Given the description of an element on the screen output the (x, y) to click on. 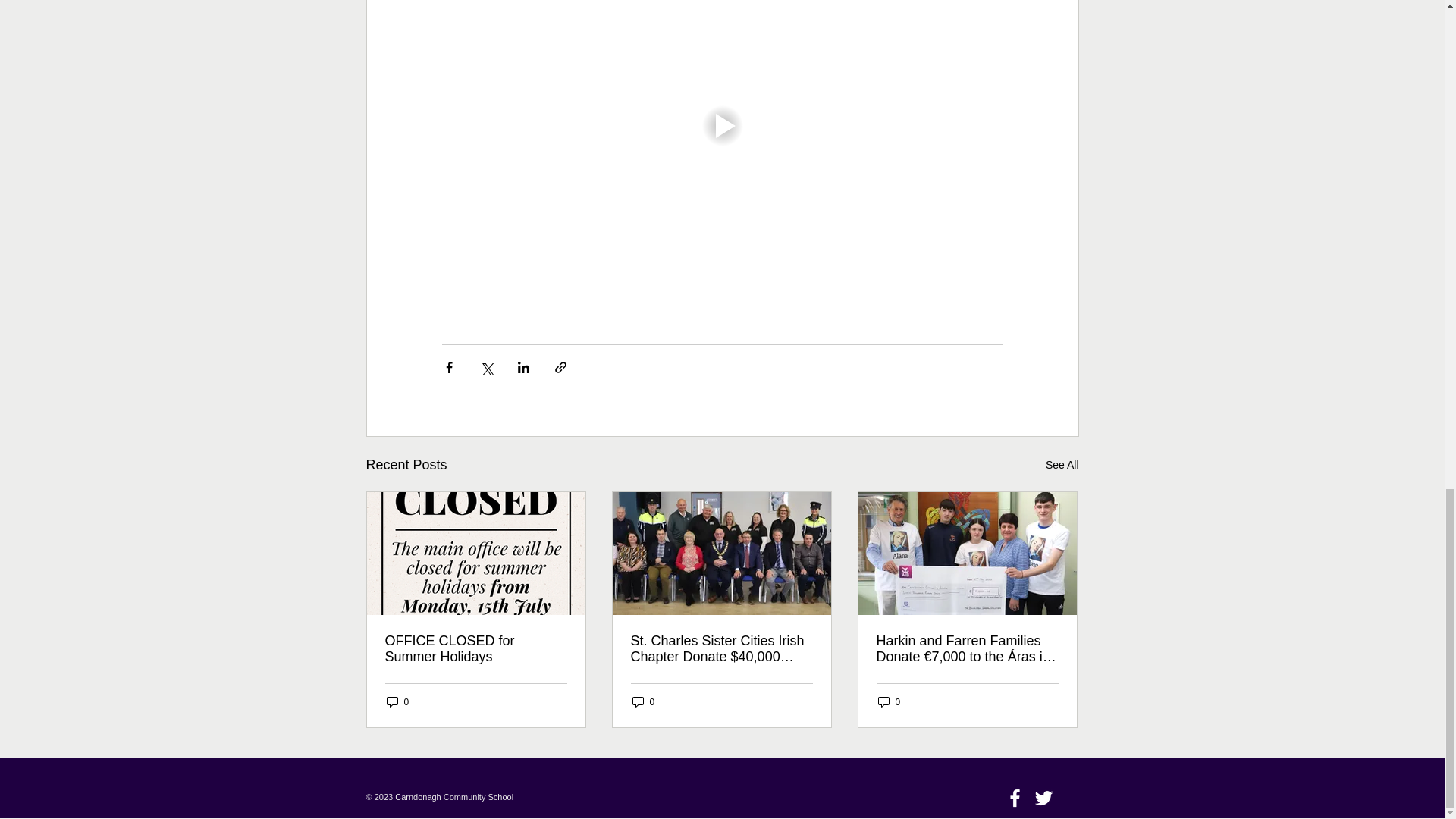
0 (643, 701)
0 (397, 701)
0 (889, 701)
See All (1061, 464)
OFFICE CLOSED for Summer Holidays (476, 649)
